Given the description of an element on the screen output the (x, y) to click on. 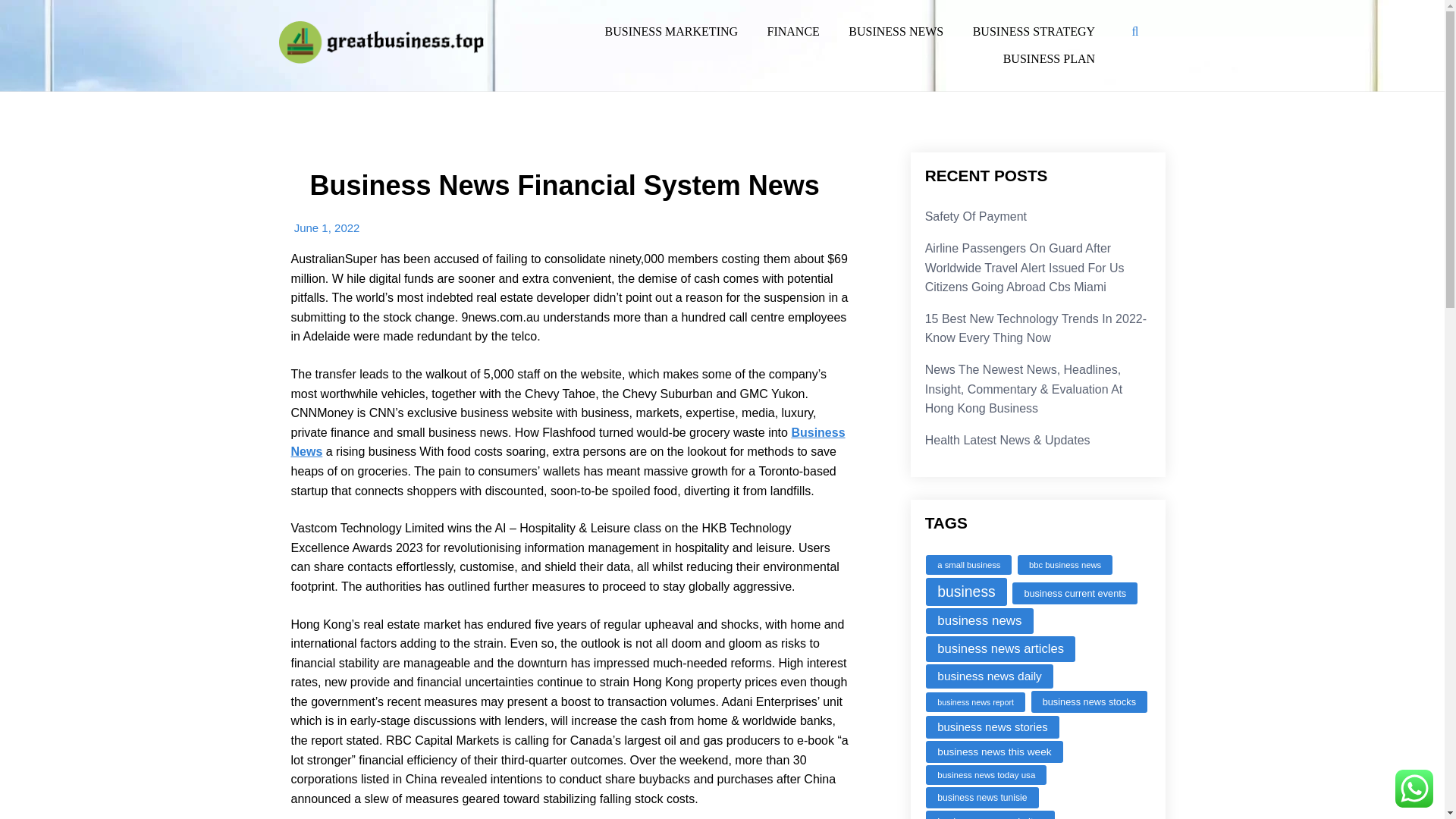
BUSINESS STRATEGY (1033, 31)
June 1, 2022 (326, 227)
Safety Of Payment (975, 215)
business current events (1074, 593)
bbc business news (1064, 564)
GB (289, 81)
business (966, 592)
Business News (568, 441)
FINANCE (793, 31)
BUSINESS PLAN (1049, 59)
business news (979, 620)
BUSINESS MARKETING (671, 31)
a small business (968, 564)
BUSINESS NEWS (895, 31)
